Given the description of an element on the screen output the (x, y) to click on. 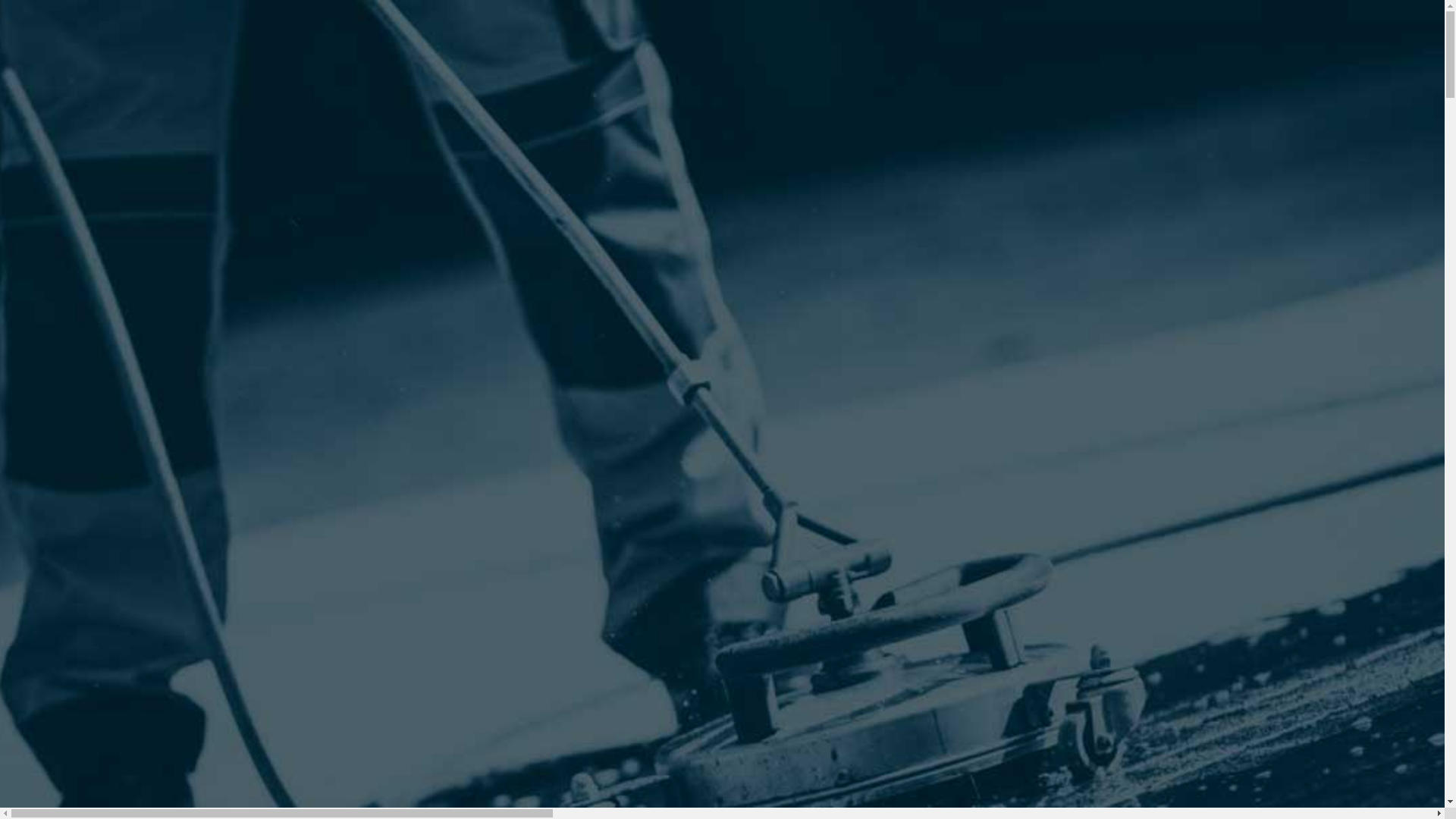
0407 005 573 Element type: text (437, 45)
FREEQUOTE Element type: text (312, 275)
Gold Coast Pressure Cleaning Element type: hover (362, 111)
pressure-cleaning-gold-coast-bg1 Element type: hover (509, 545)
CALL: 0407 005 573 Element type: text (364, 248)
OUR COMPANY Element type: text (355, 214)
GET IN TOUCH Element type: text (352, 231)
GET SOCIAL WITH US on Facebook Element type: hover (311, 18)
HOME Element type: text (327, 181)
OUR SERVICES Element type: text (352, 198)
